Given the description of an element on the screen output the (x, y) to click on. 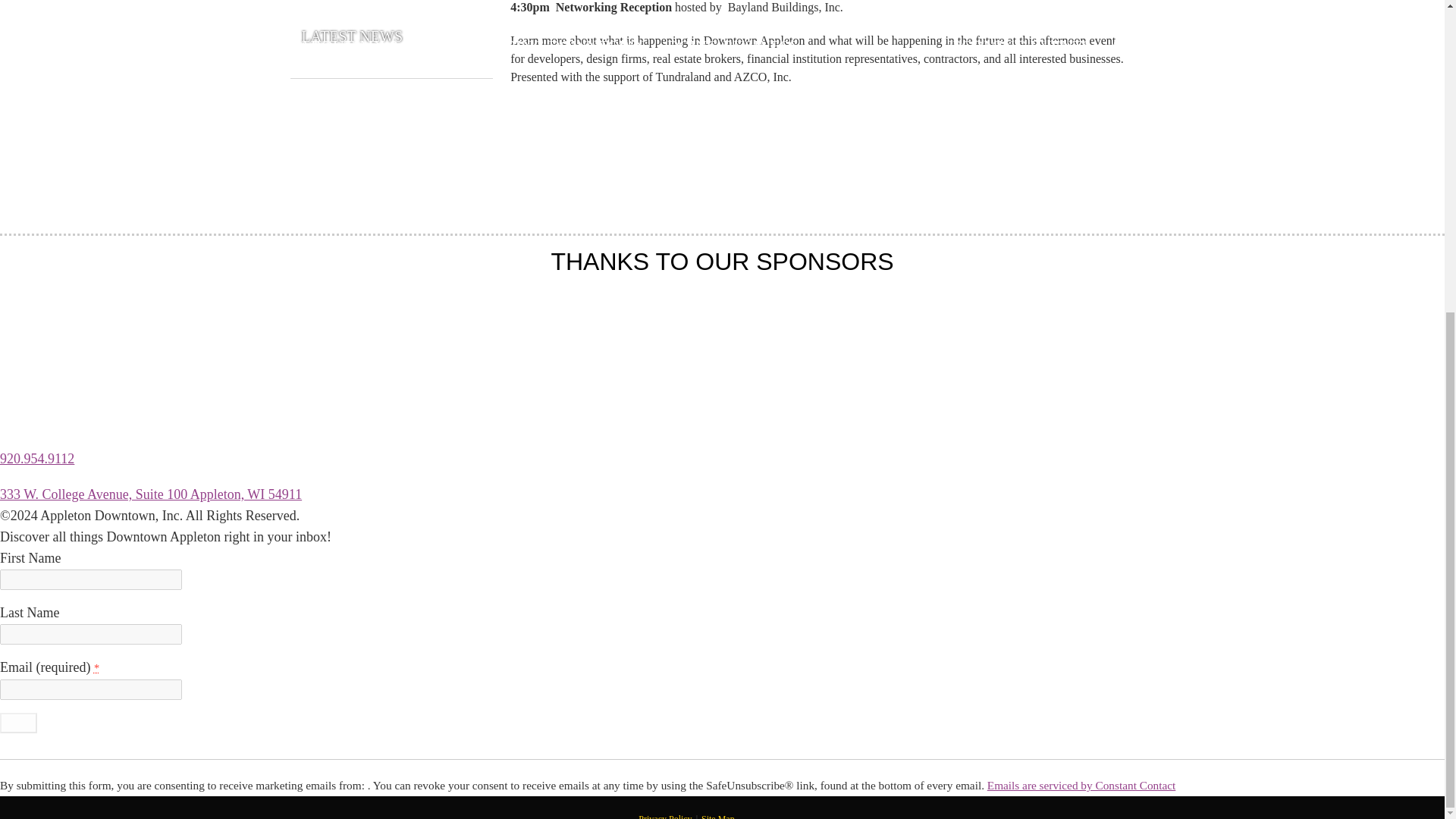
GO! (18, 722)
